Given the description of an element on the screen output the (x, y) to click on. 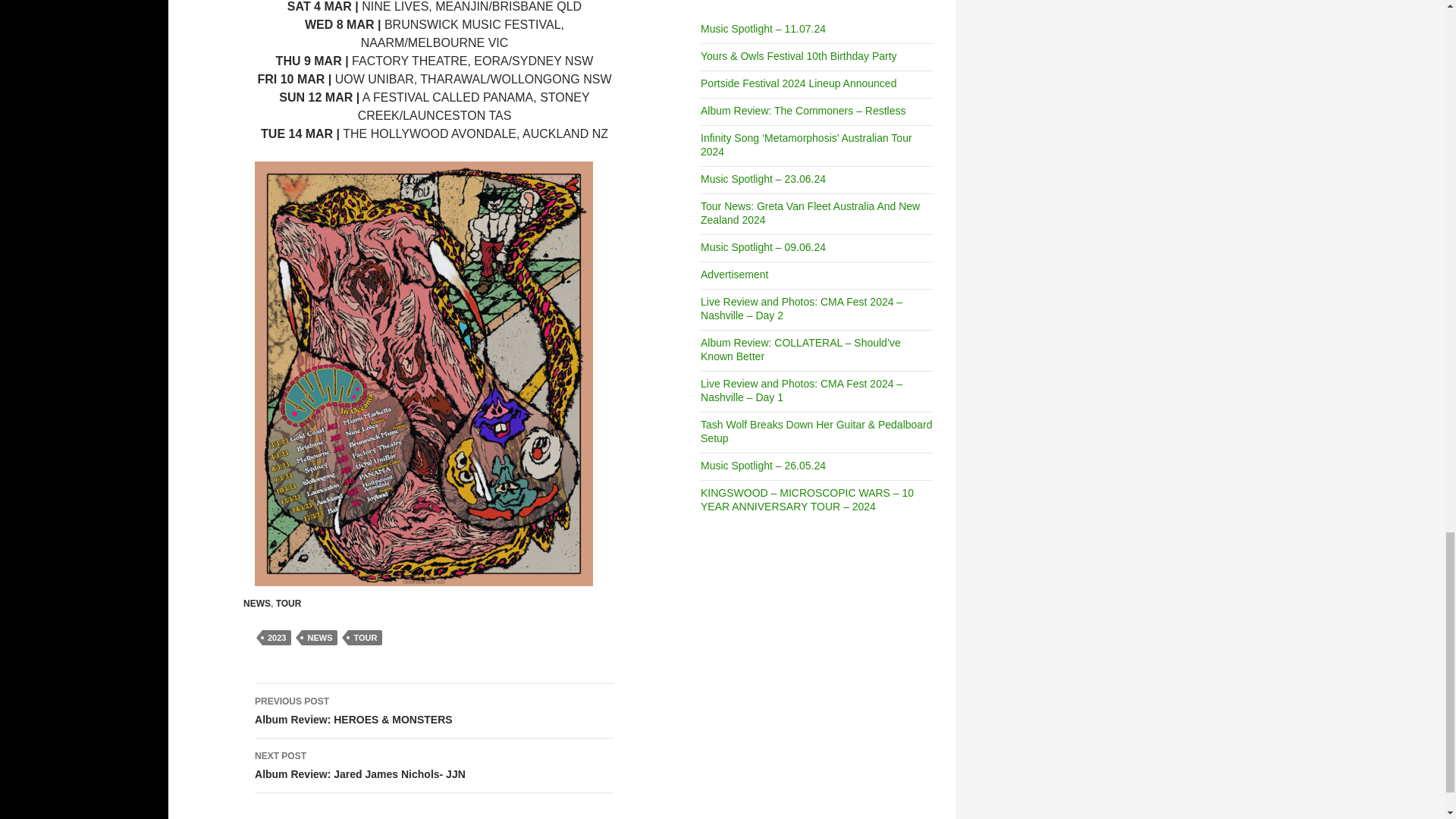
NEWS (319, 637)
NEWS (256, 603)
TOUR (364, 637)
Portside Festival 2024 Lineup Announced (798, 82)
2023 (276, 637)
TOUR (288, 603)
